Given the description of an element on the screen output the (x, y) to click on. 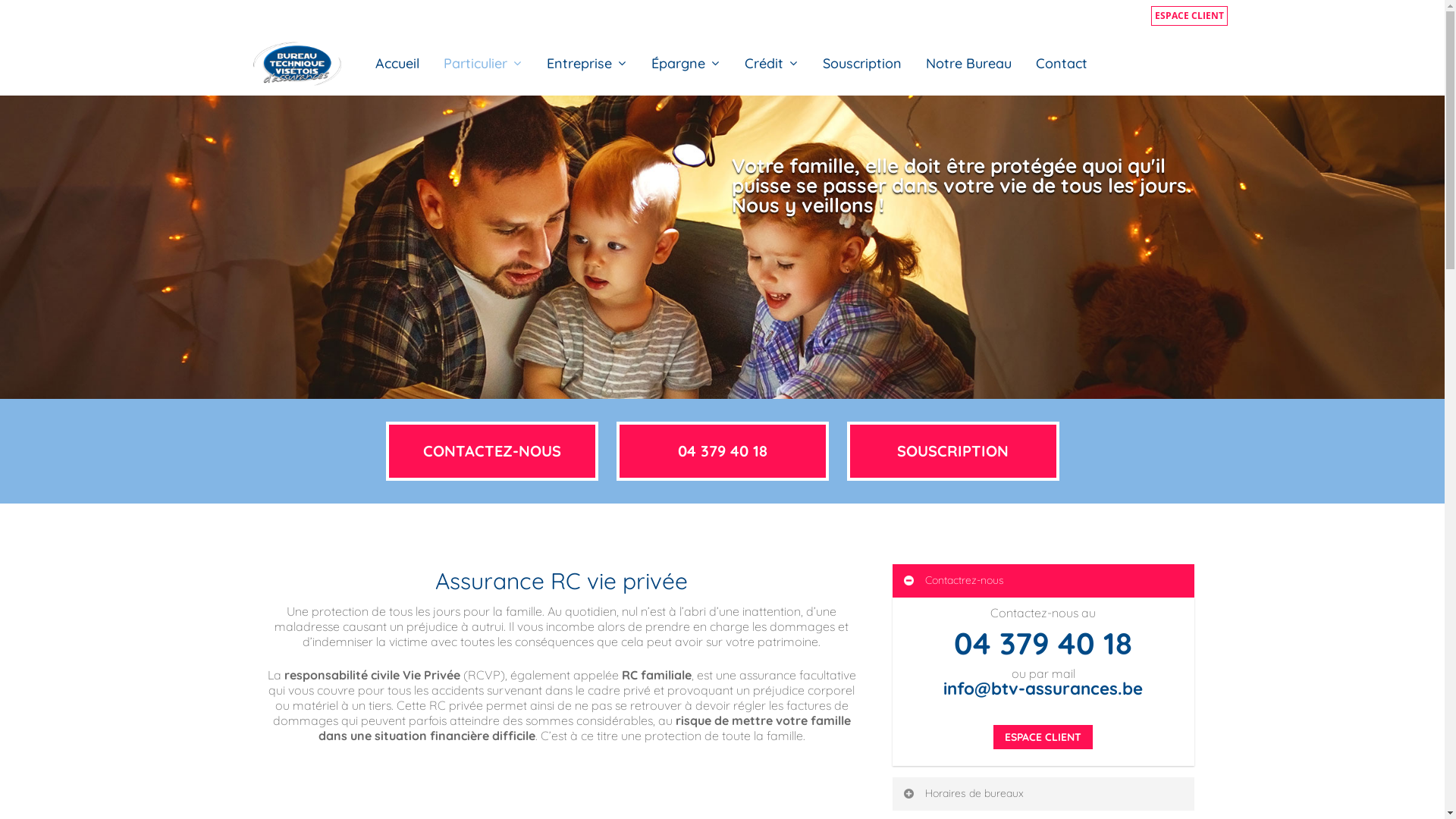
Notre Bureau Element type: text (968, 63)
Particulier Element type: text (482, 63)
info@btv-assurances.be Element type: text (1042, 688)
ESPACE CLIENT Element type: text (1189, 15)
Contact Element type: text (1061, 63)
04 379 40 18 Element type: text (1042, 643)
Horaires de bureaux Element type: text (1043, 793)
CONTACTEZ-NOUS Element type: text (491, 450)
Contactrez-nous Element type: text (1043, 580)
Entreprise Element type: text (586, 63)
Accueil Element type: text (397, 63)
Souscription Element type: text (861, 63)
ESPACE CLIENT Element type: text (1042, 736)
SOUSCRIPTION Element type: text (952, 450)
04 379 40 18 Element type: text (721, 450)
